Given the description of an element on the screen output the (x, y) to click on. 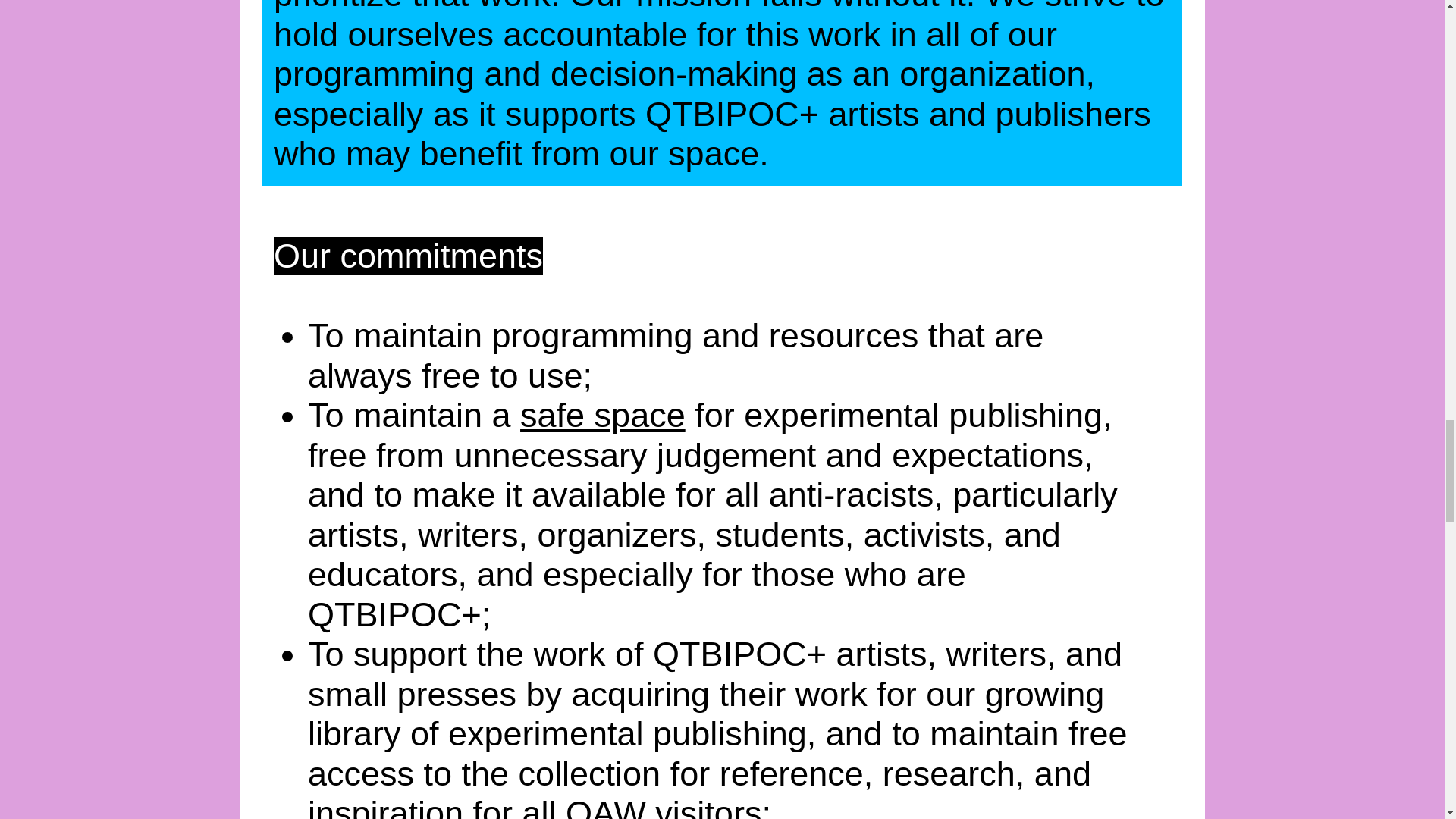
safe space (602, 414)
